Given the description of an element on the screen output the (x, y) to click on. 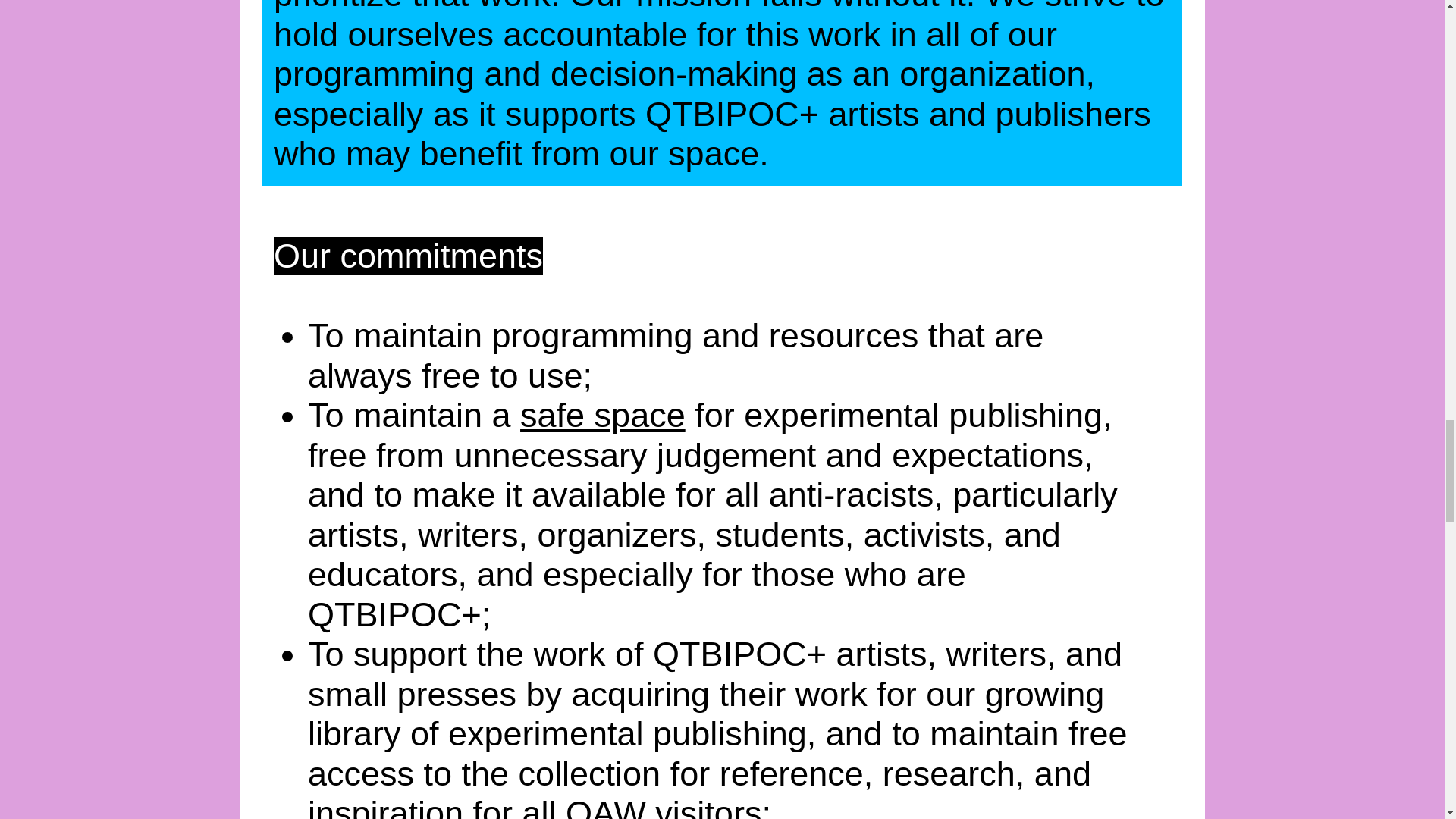
safe space (602, 414)
